Given the description of an element on the screen output the (x, y) to click on. 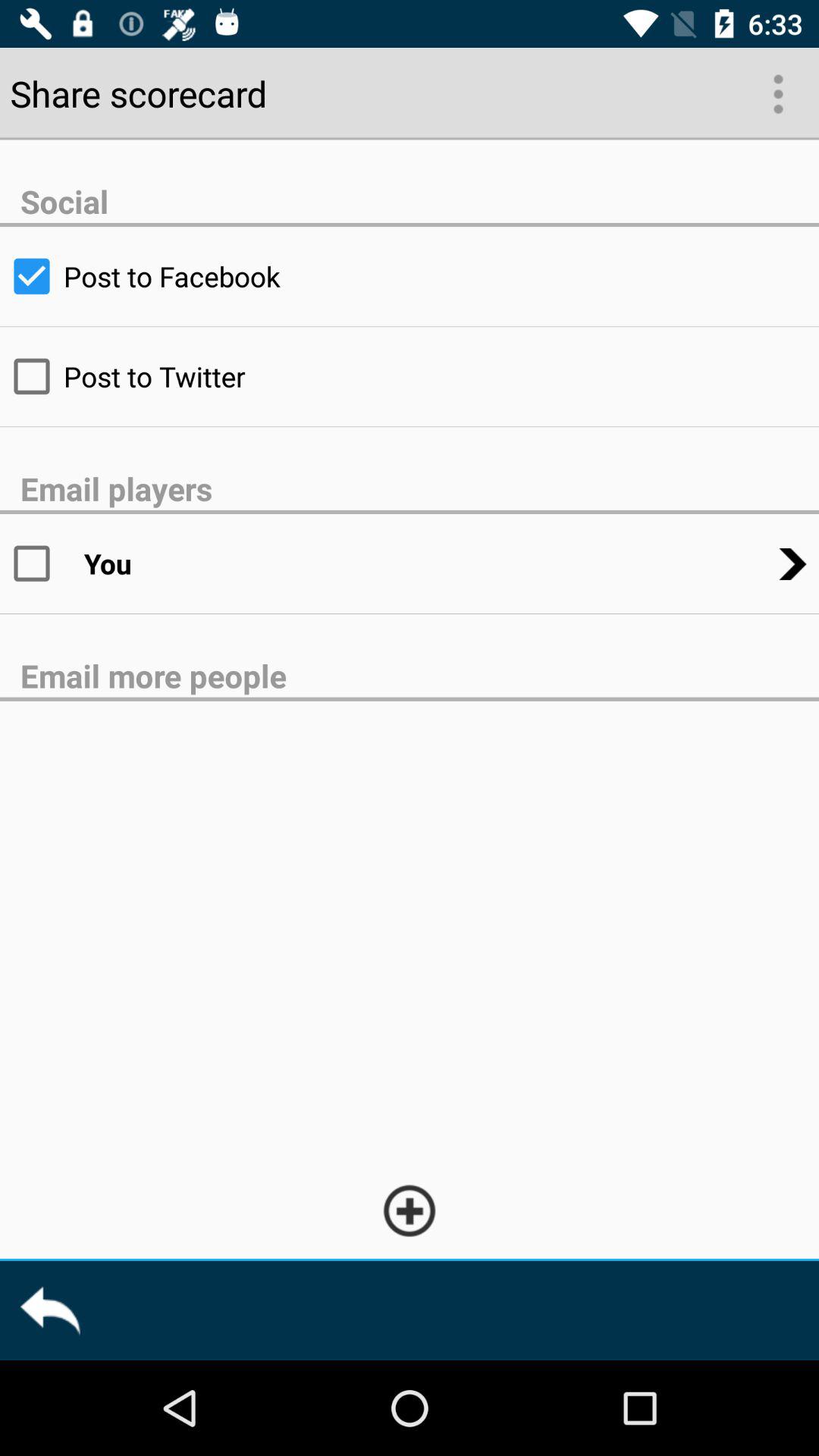
turn on item at the top right corner (776, 92)
